Given the description of an element on the screen output the (x, y) to click on. 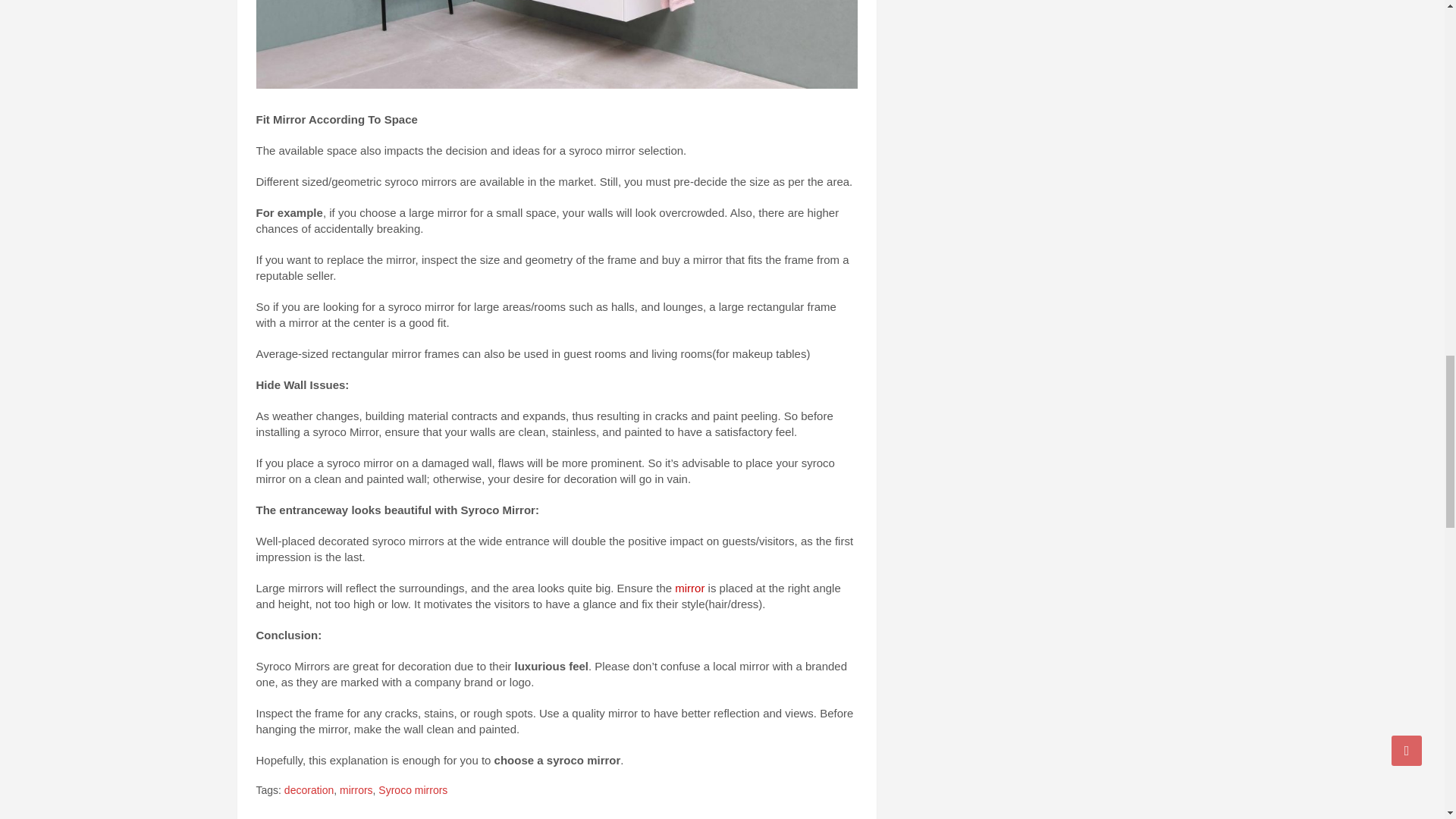
mirrors (355, 790)
mirror (689, 587)
Syroco mirrors (412, 790)
How to Decorate Your Home With Syroco Mirror 2 (556, 44)
decoration (308, 790)
